Given the description of an element on the screen output the (x, y) to click on. 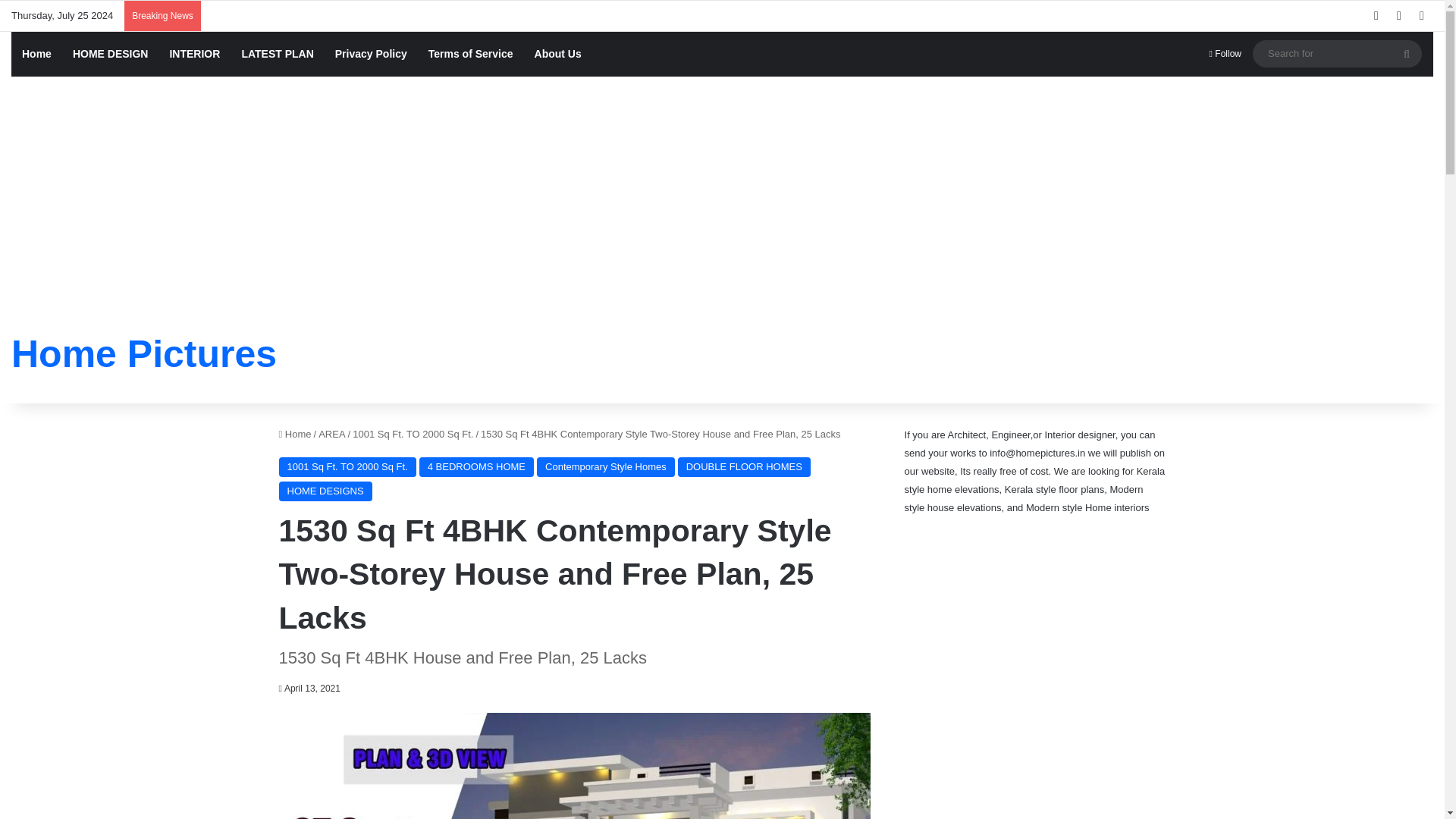
Follow (1225, 53)
AREA (331, 433)
DOUBLE FLOOR HOMES (744, 466)
1001 Sq Ft. TO 2000 Sq Ft. (412, 433)
INTERIOR (194, 53)
Search for (1337, 53)
Contemporary Style Homes (606, 466)
Privacy Policy (370, 53)
4 BEDROOMS HOME (476, 466)
Home Pictures (143, 353)
About Us (558, 53)
Home (36, 53)
HOME DESIGNS (325, 491)
Home Pictures (143, 353)
HOME DESIGN (110, 53)
